Given the description of an element on the screen output the (x, y) to click on. 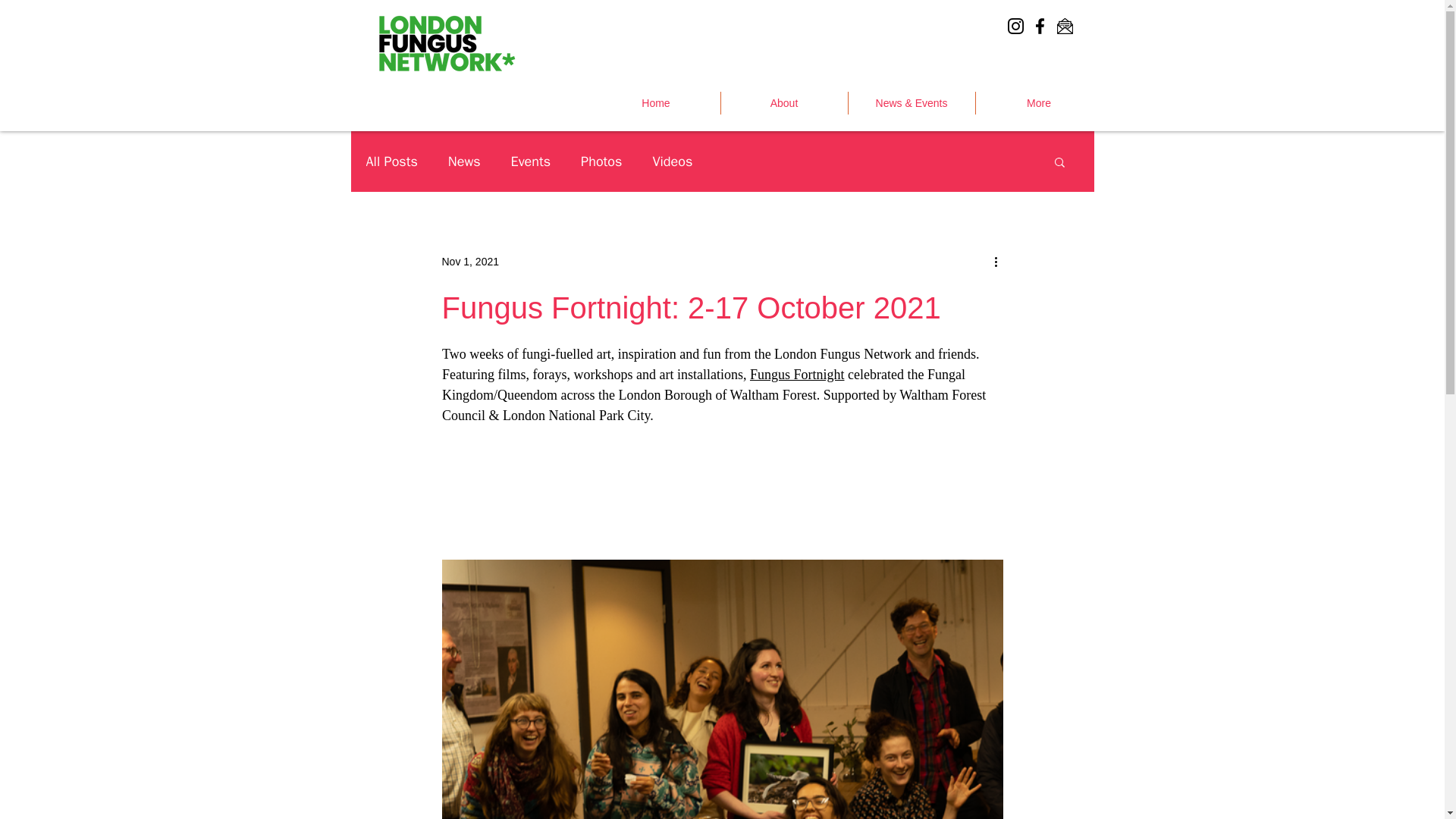
Events (531, 161)
Home (655, 102)
Videos (672, 161)
Photos (600, 161)
News (464, 161)
All Posts (390, 161)
About (783, 102)
Nov 1, 2021 (470, 260)
